Given the description of an element on the screen output the (x, y) to click on. 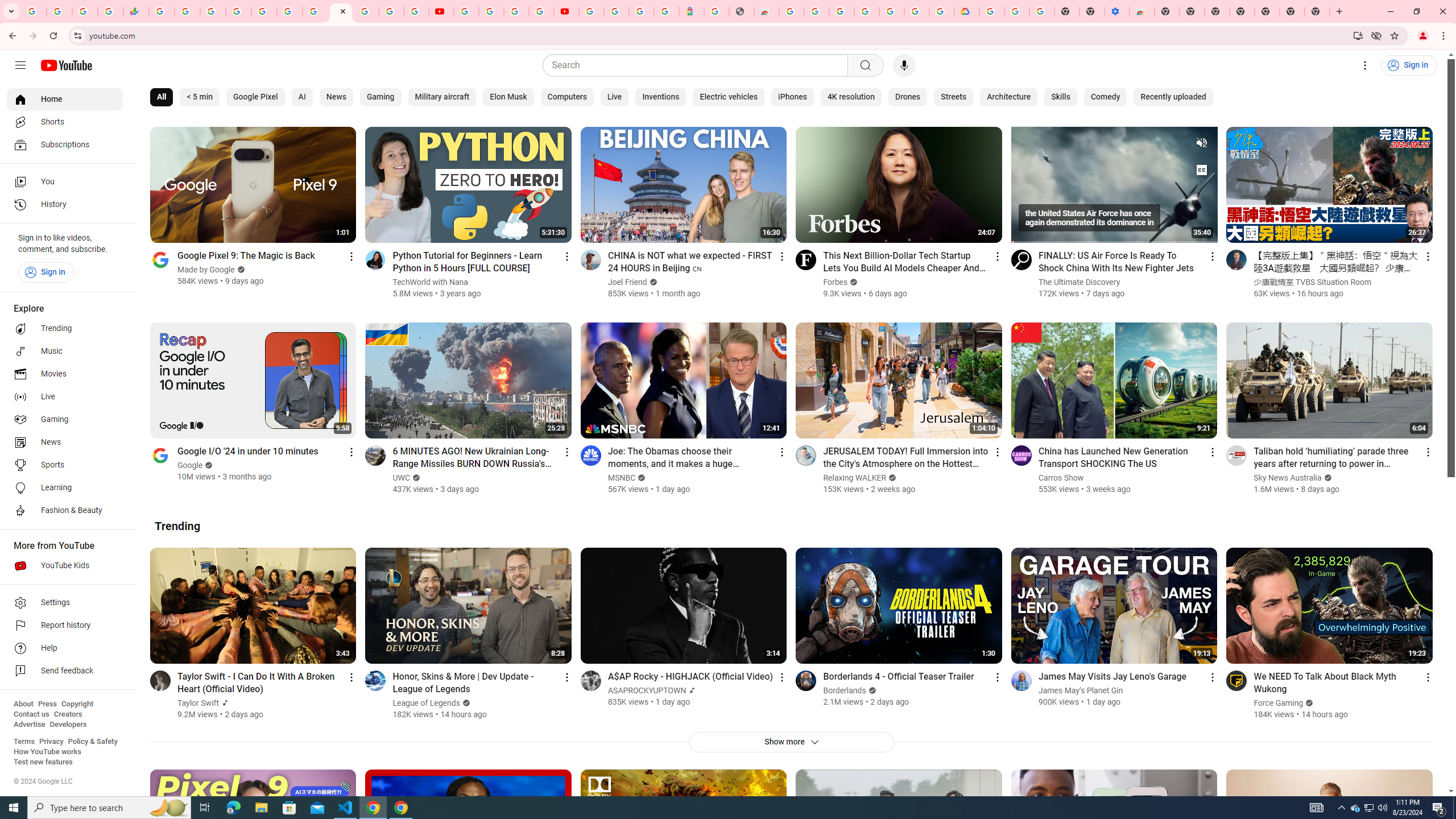
New Tab (1266, 11)
News (335, 97)
Music (64, 350)
Unmute (1201, 142)
Comedy (1104, 97)
Sign in - Google Accounts (841, 11)
Gaming (380, 97)
YouTube (465, 11)
Search with your voice (903, 65)
Electric vehicles (728, 97)
